Given the description of an element on the screen output the (x, y) to click on. 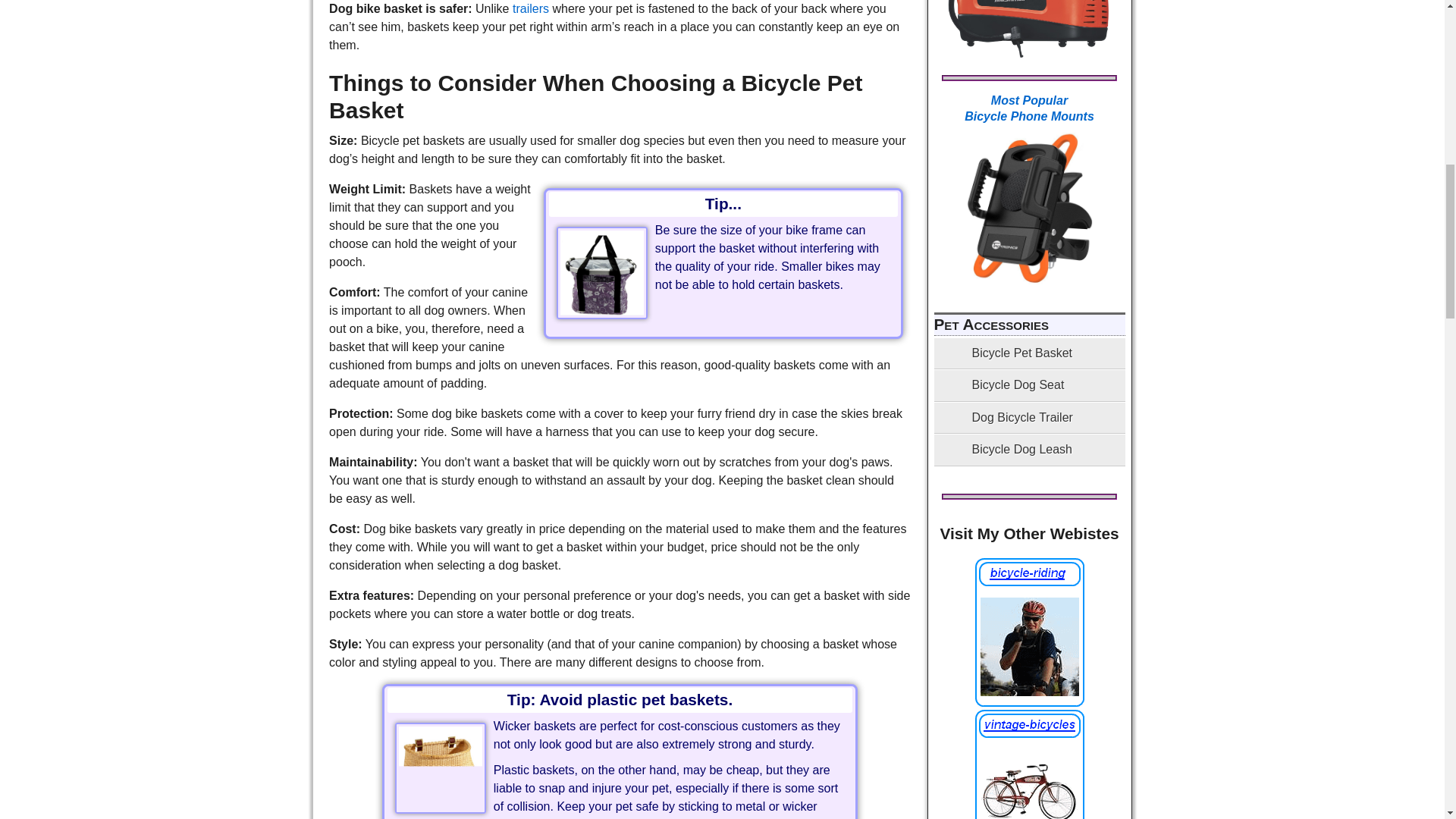
Bicycle Pet Basket (439, 767)
Dog Bike Basket (601, 272)
